Given the description of an element on the screen output the (x, y) to click on. 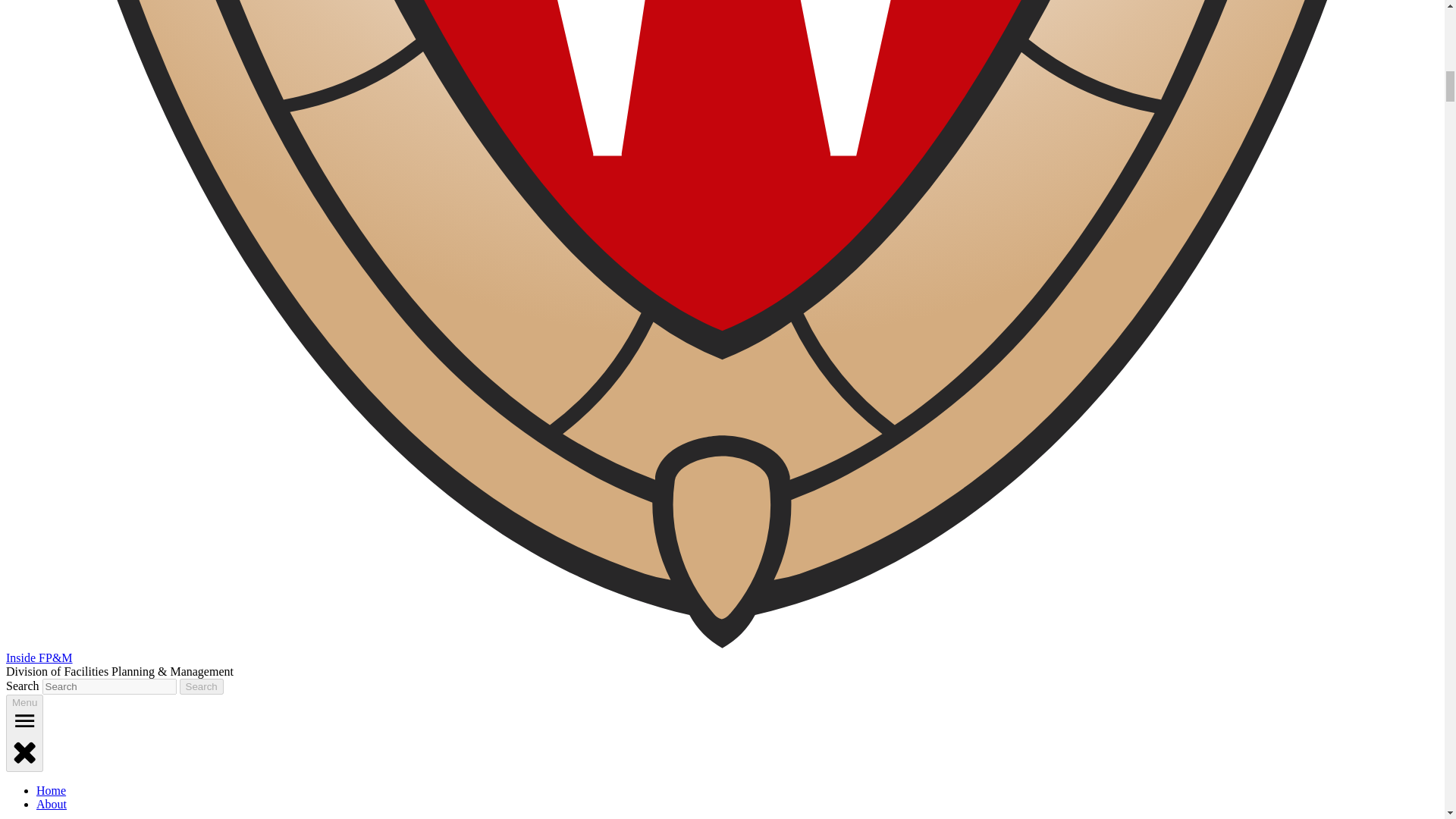
Search (201, 686)
Search (201, 686)
open menu (24, 720)
Home (50, 789)
Search (201, 686)
